Given the description of an element on the screen output the (x, y) to click on. 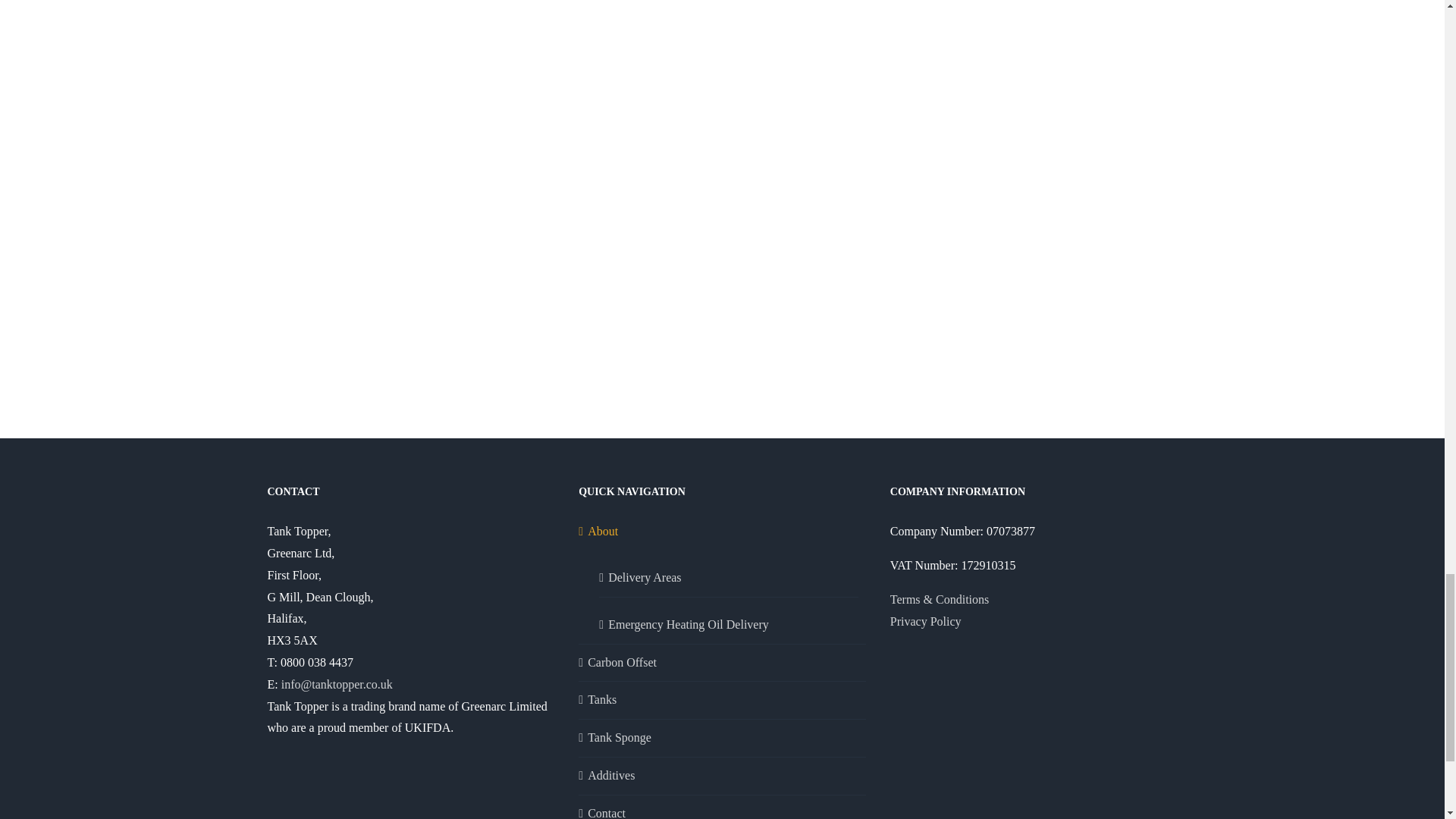
Tank Sponge (723, 738)
Emergency Heating Oil Delivery (729, 620)
Contact (723, 811)
About (723, 531)
Tanks (723, 700)
Submit (603, 238)
Delivery Areas (729, 572)
Carbon Offset (723, 662)
Privacy Policy (924, 621)
Additives (723, 775)
